Given the description of an element on the screen output the (x, y) to click on. 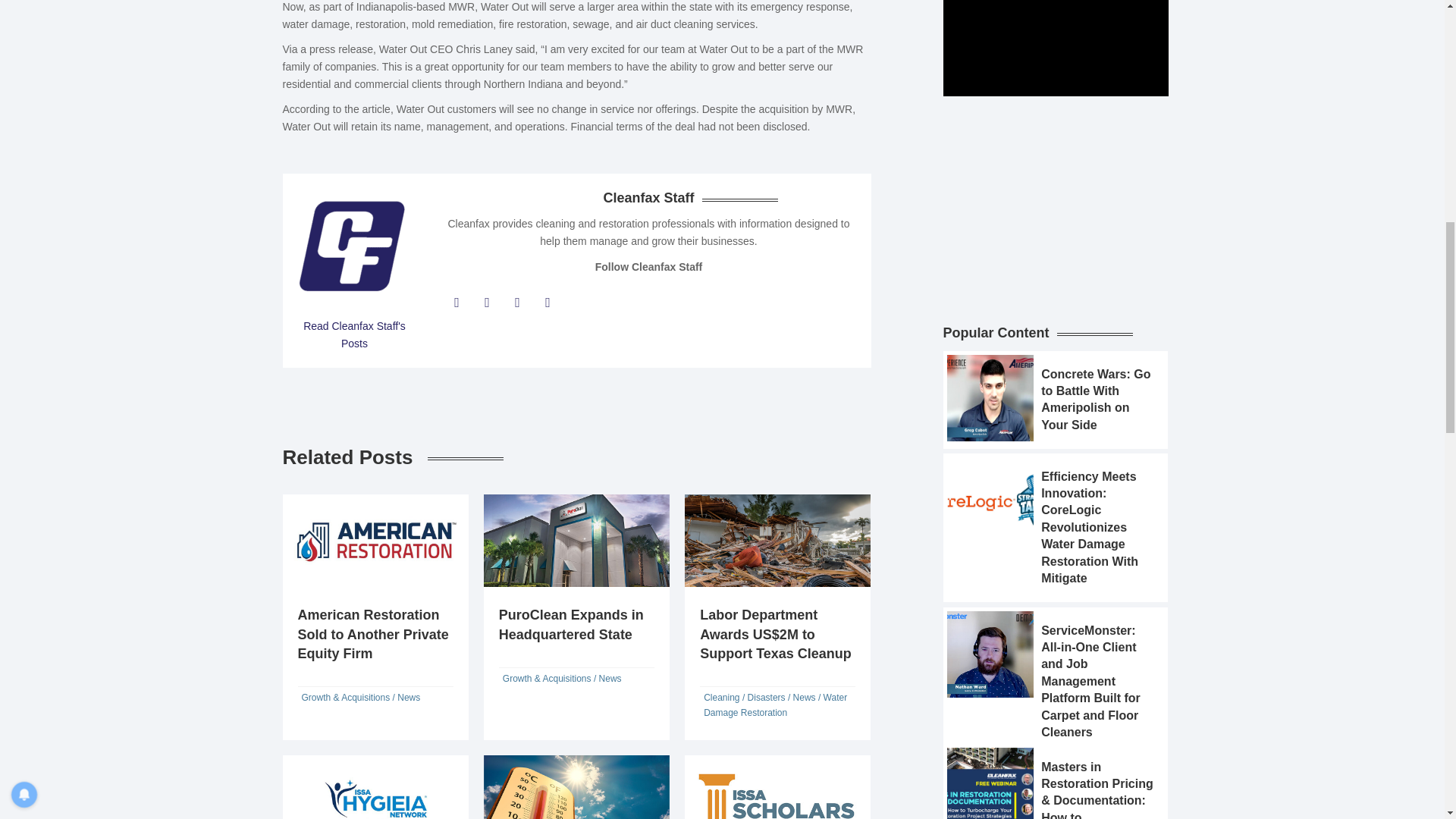
American Restoration logo (374, 541)
American Restoration Sold to Another Private Equity Firm (372, 633)
Cleanfax Staff (353, 334)
PuroClean Expands in Headquartered State (571, 624)
Hurricane damage (777, 541)
